Given the description of an element on the screen output the (x, y) to click on. 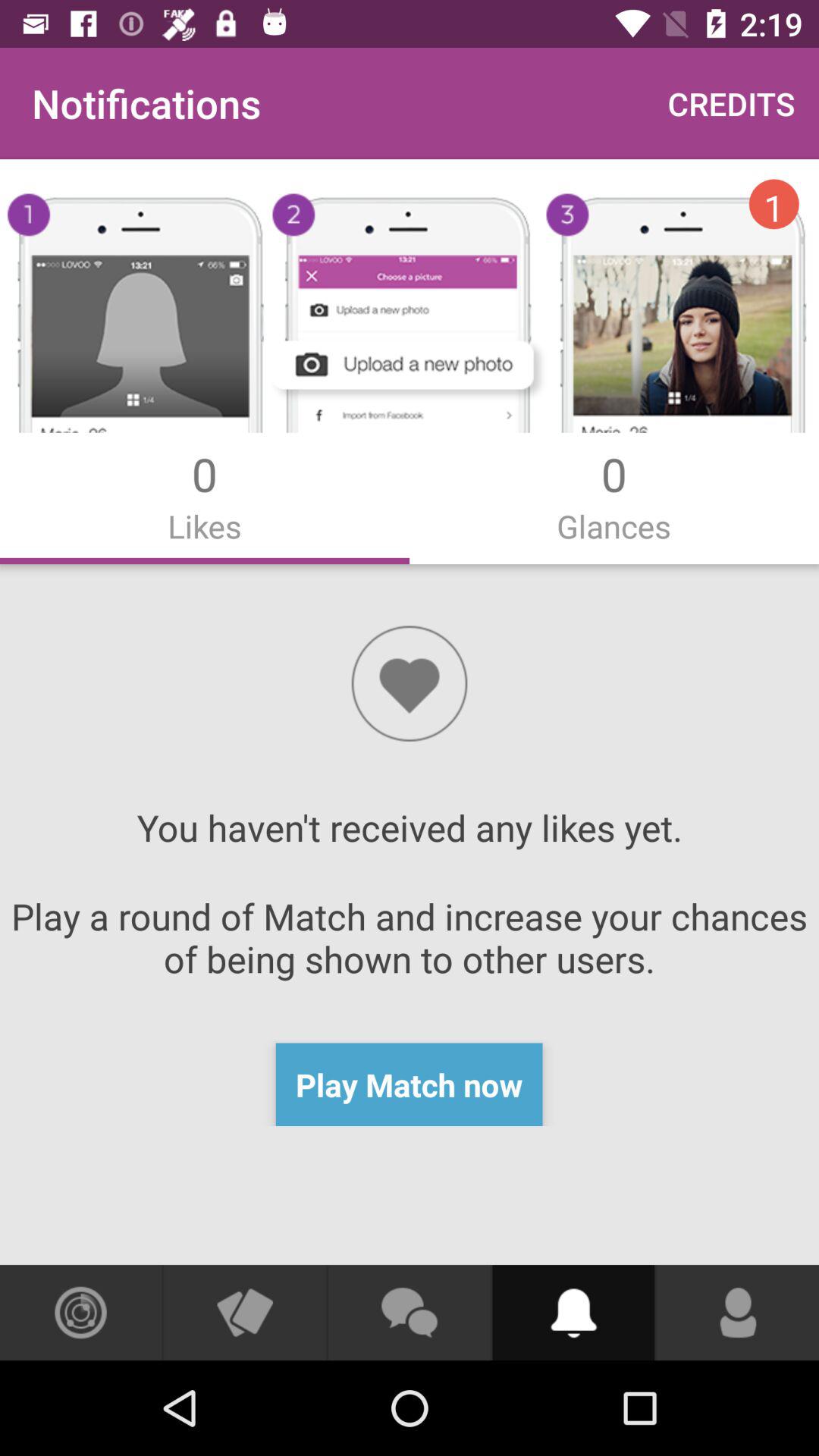
contacts (737, 1312)
